Given the description of an element on the screen output the (x, y) to click on. 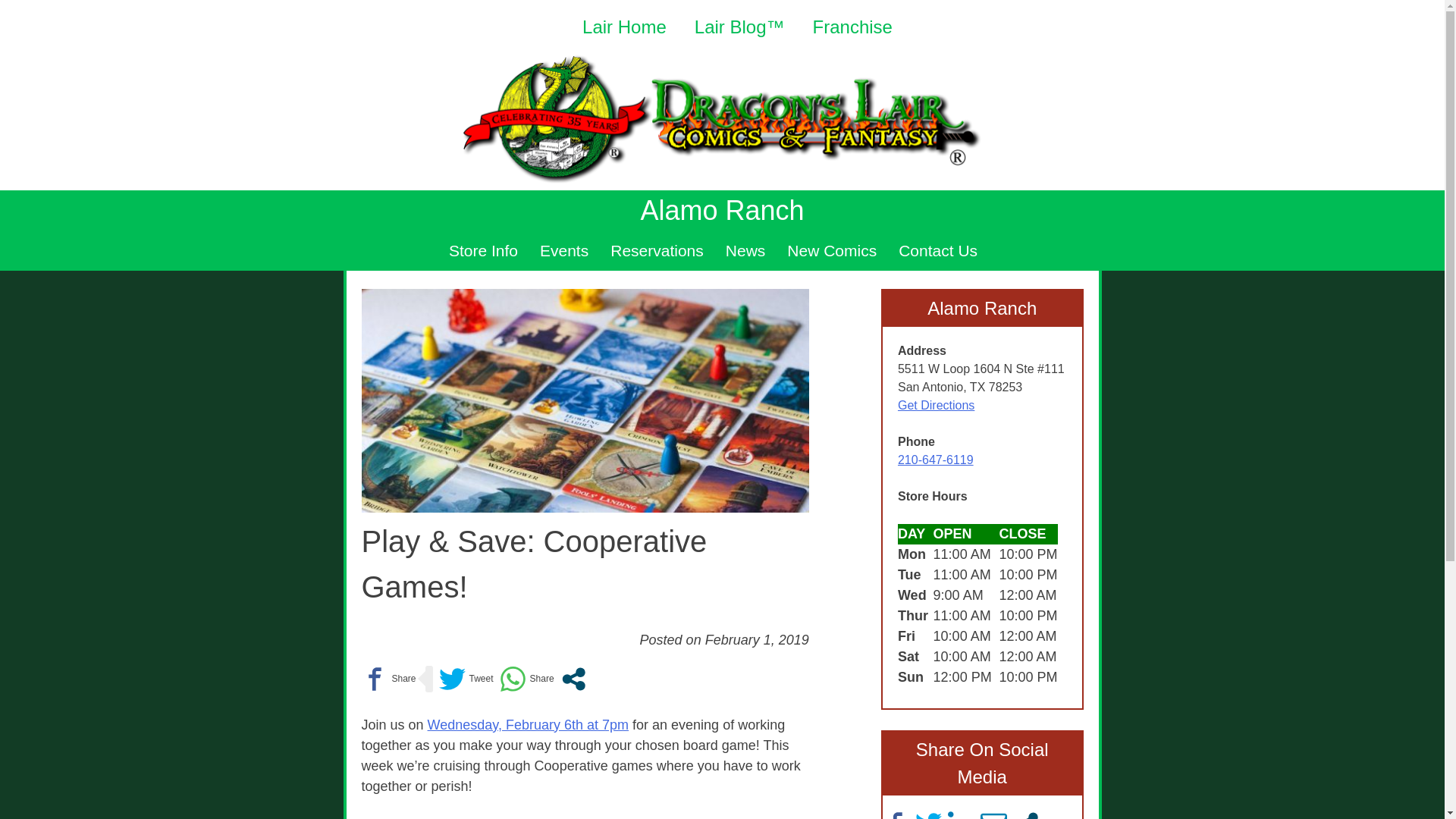
Share on Facebook (387, 678)
Franchise (852, 26)
New Comics (831, 250)
Lair Home (624, 26)
Wednesday, February 6th at 7pm (528, 724)
Reservations (656, 250)
News (745, 250)
Open modal social networks (573, 678)
Alamo Ranch (721, 210)
Contact Us (937, 250)
